Given the description of an element on the screen output the (x, y) to click on. 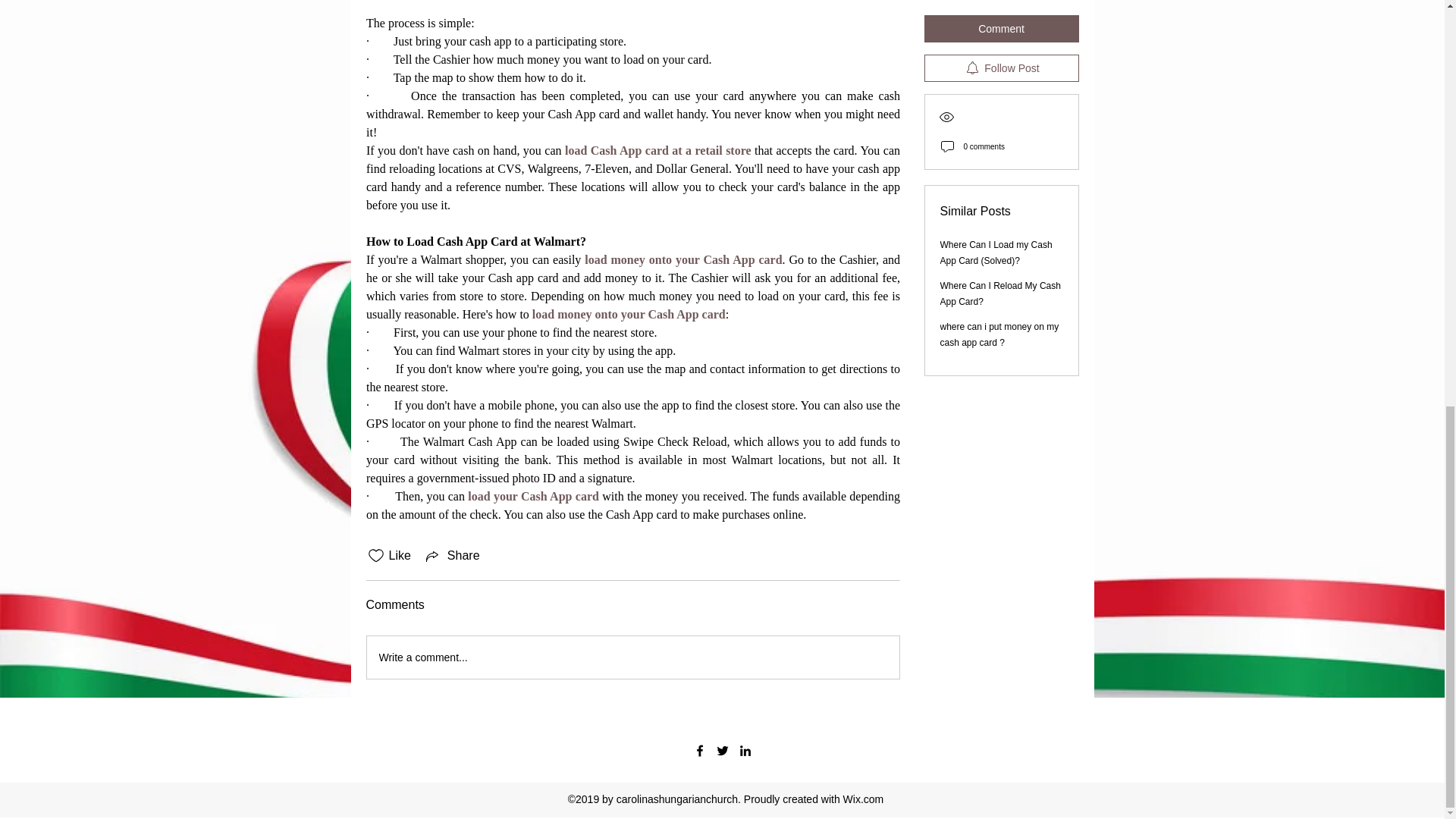
Share (451, 556)
load money onto your Cash App card (628, 314)
load your Cash App card (532, 495)
load Cash App card at a retail store (657, 150)
load money onto your Cash App card (683, 259)
Write a comment... (632, 657)
